Given the description of an element on the screen output the (x, y) to click on. 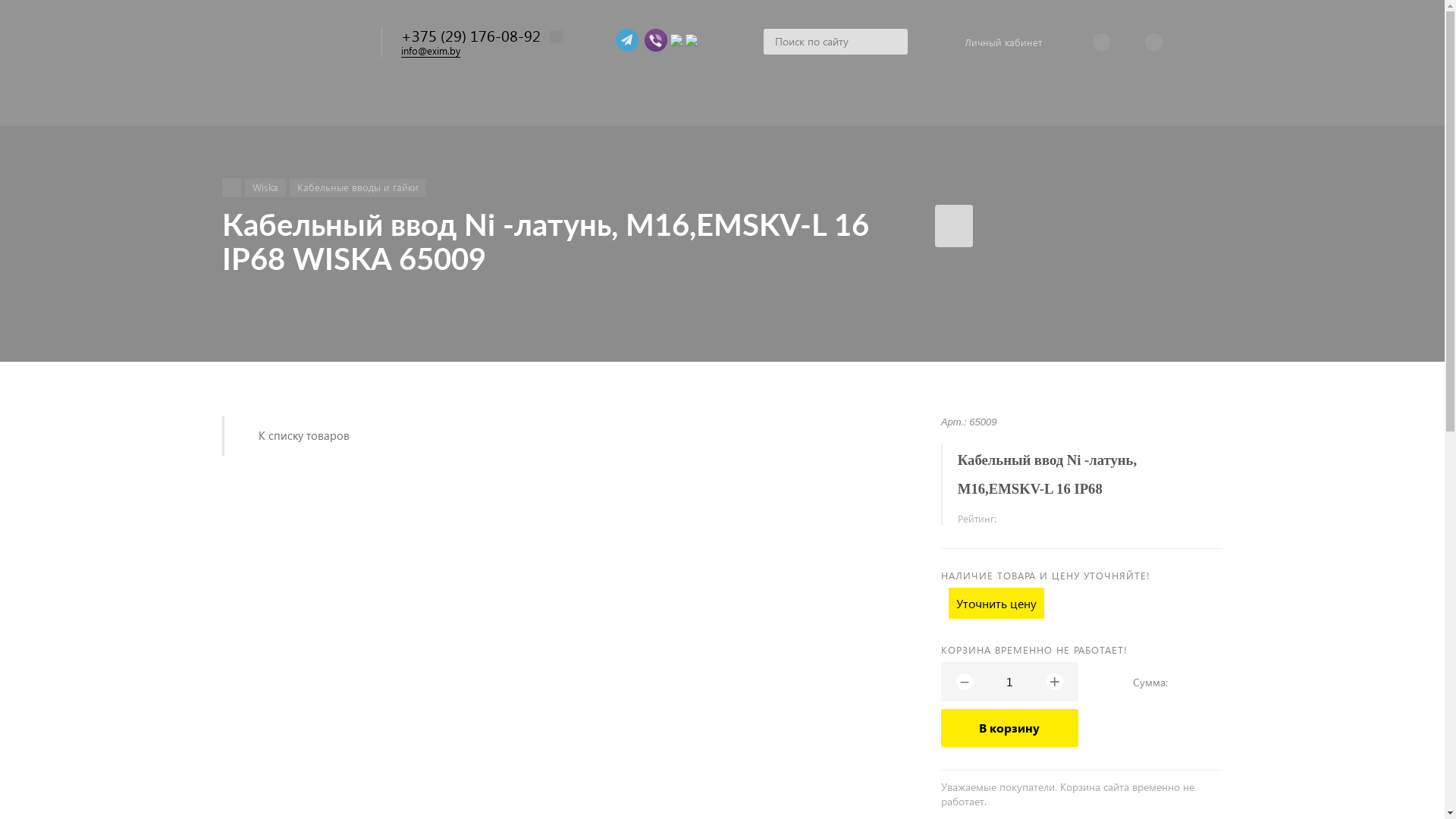
+375 (29) 176-08-92 Element type: text (469, 34)
Wiska Element type: text (264, 187)
info@exim.by Element type: text (429, 50)
